Given the description of an element on the screen output the (x, y) to click on. 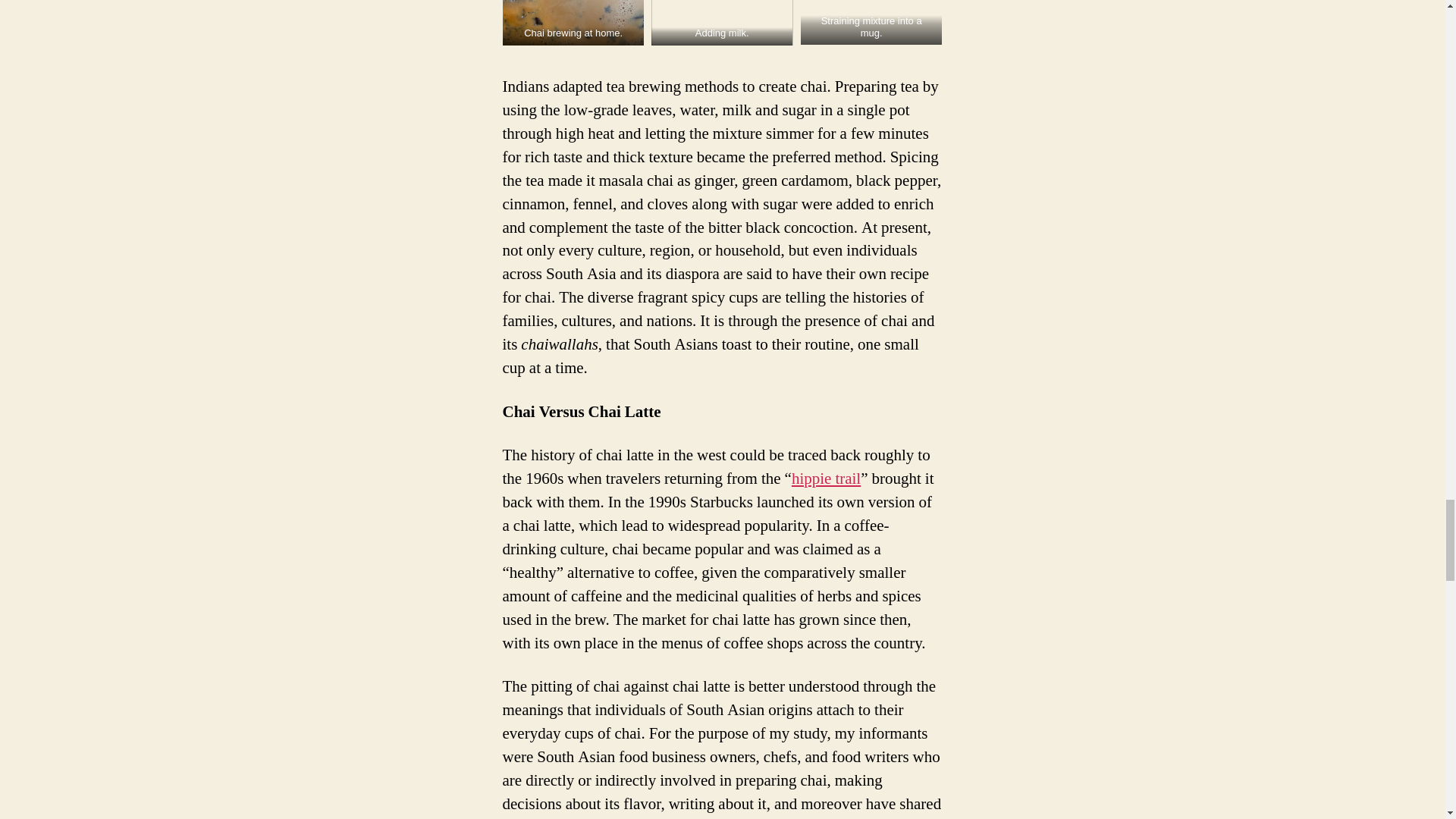
hippie trail (826, 478)
